Given the description of an element on the screen output the (x, y) to click on. 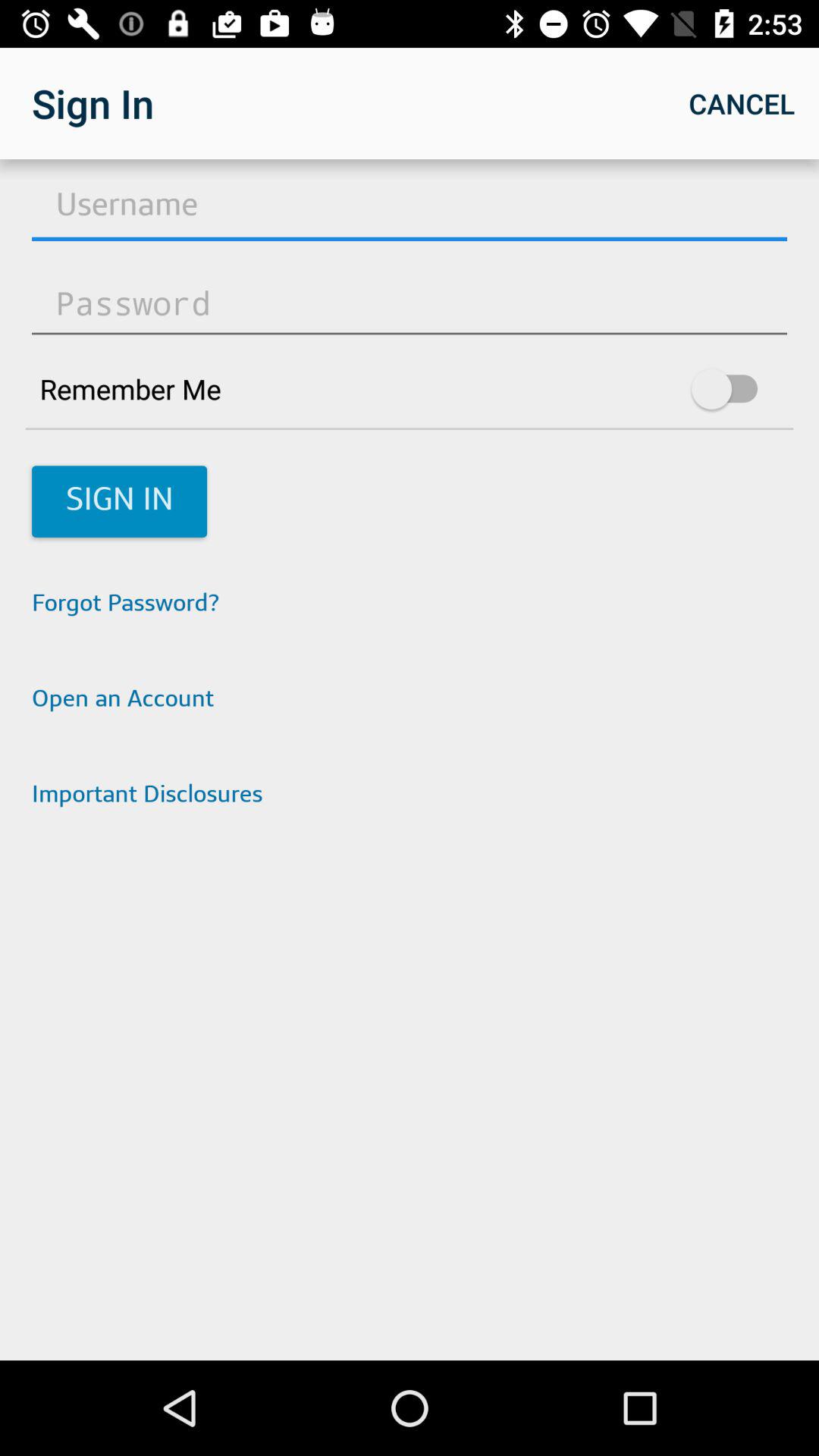
turn on the forgot password? app (409, 604)
